Given the description of an element on the screen output the (x, y) to click on. 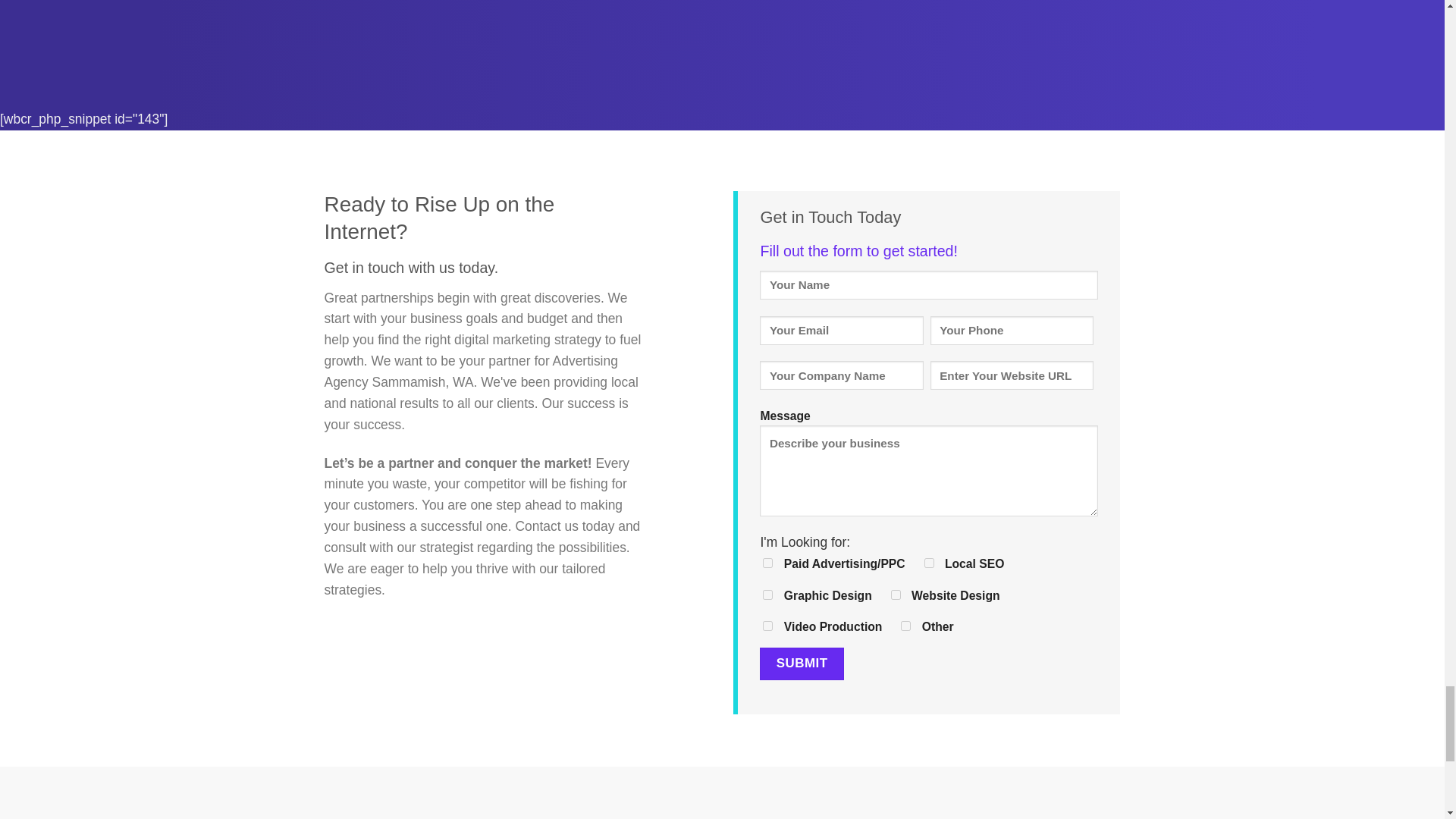
Video Production (767, 625)
Other (906, 625)
Website Design (896, 594)
Submit (801, 663)
Graphic Design (767, 594)
Local SEO (929, 562)
